Given the description of an element on the screen output the (x, y) to click on. 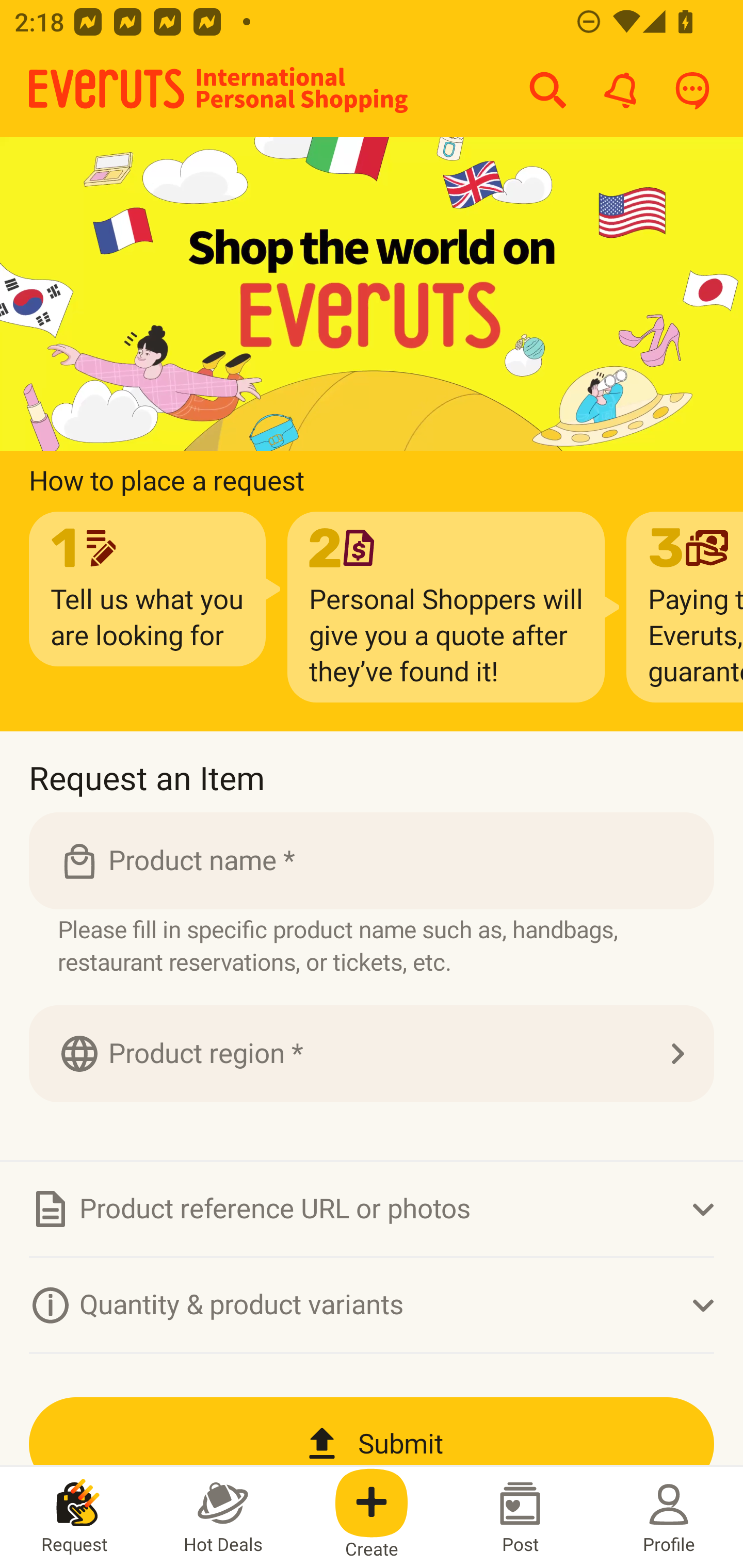
0:32 Closed (371, 294)
Product name * (371, 860)
Product reference URL or photos (371, 1208)
Quantity & product variants (371, 1304)
Submit (371, 1432)
Hot Deals (222, 1517)
Create (371, 1517)
Post (519, 1517)
Profile (668, 1517)
